Given the description of an element on the screen output the (x, y) to click on. 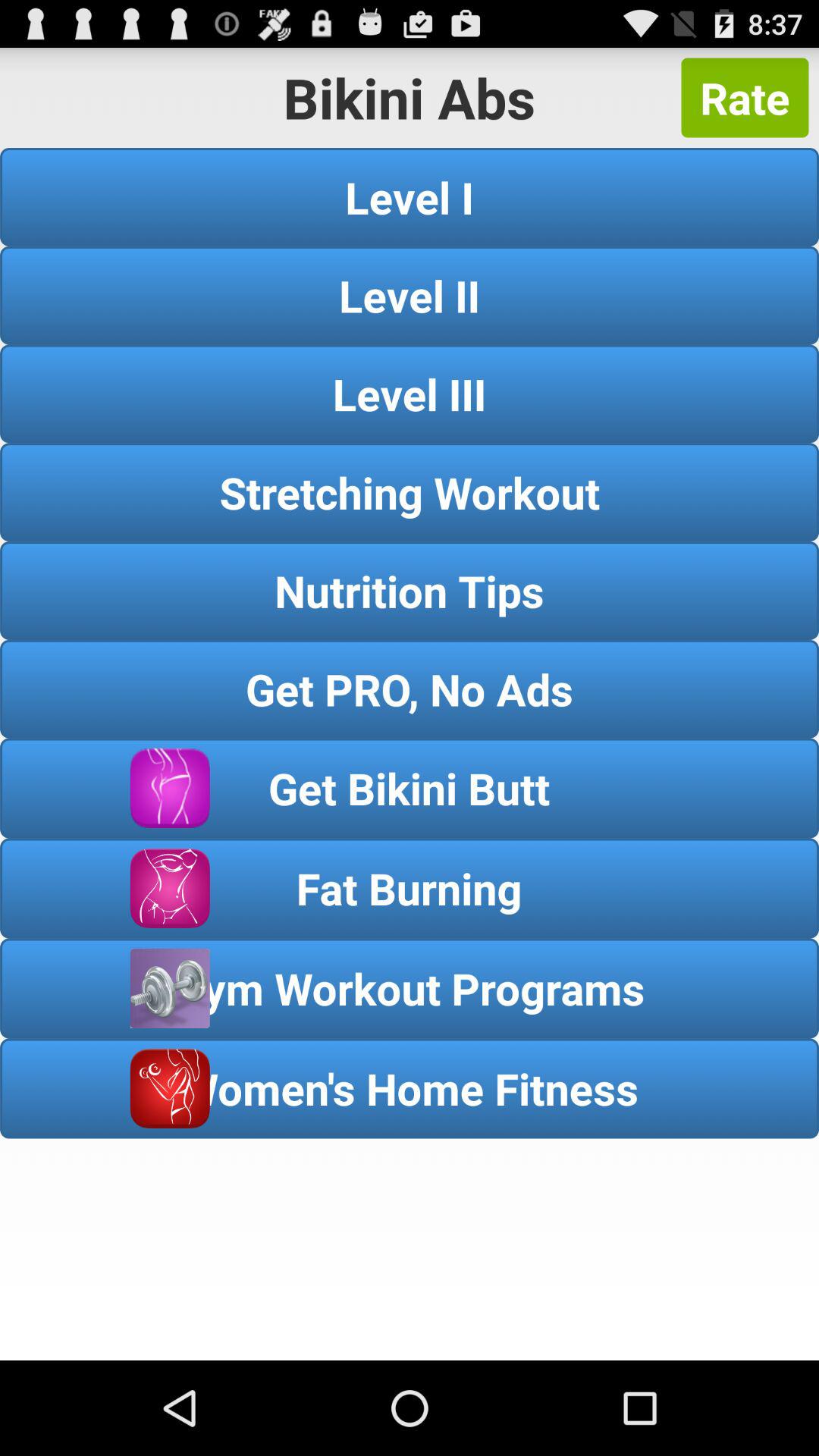
choose the button below nutrition tips button (409, 688)
